Given the description of an element on the screen output the (x, y) to click on. 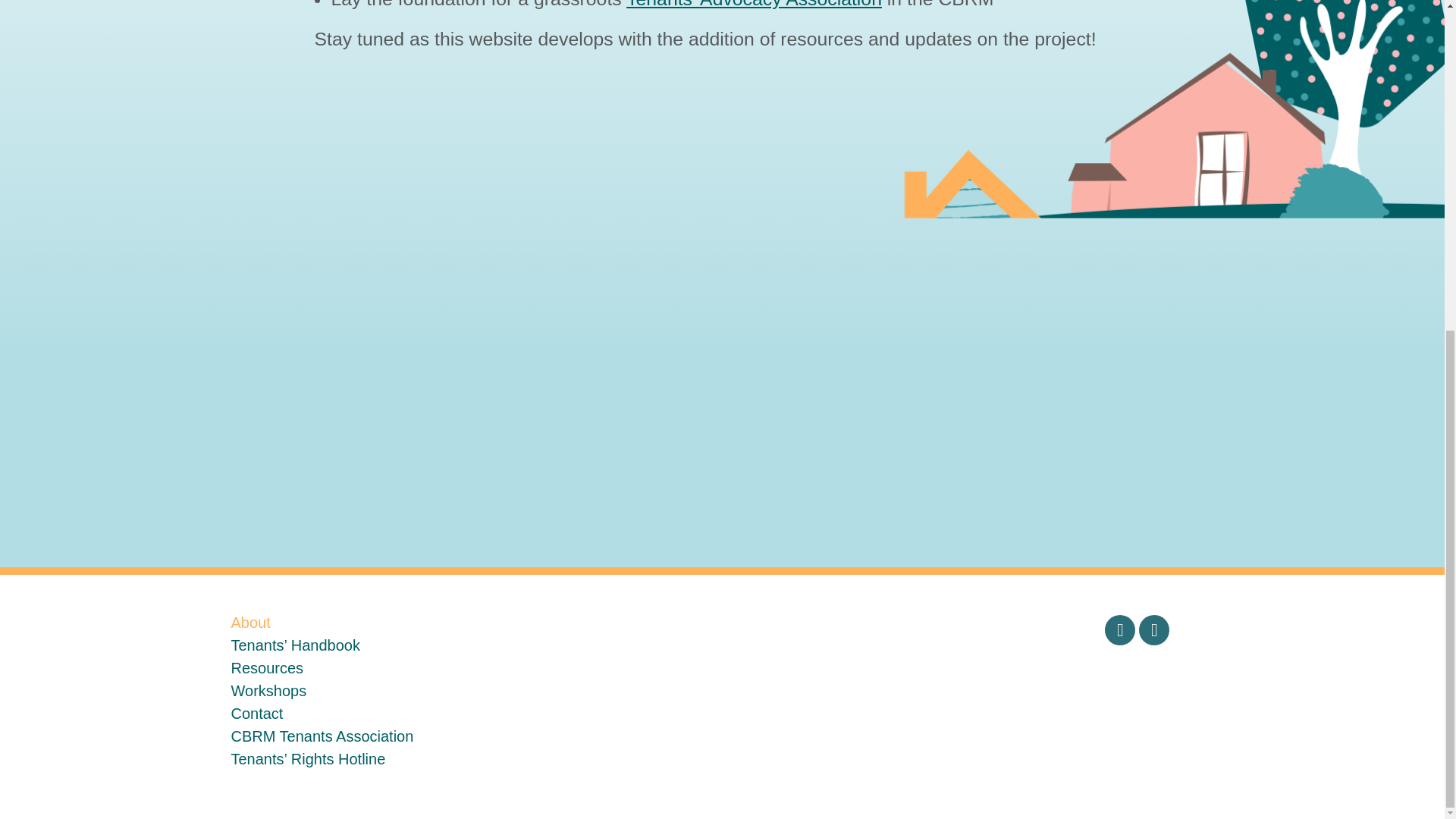
Resources (266, 668)
Workshops (267, 690)
About (249, 622)
Contact (256, 713)
CBRM Tenants Association (321, 736)
